Given the description of an element on the screen output the (x, y) to click on. 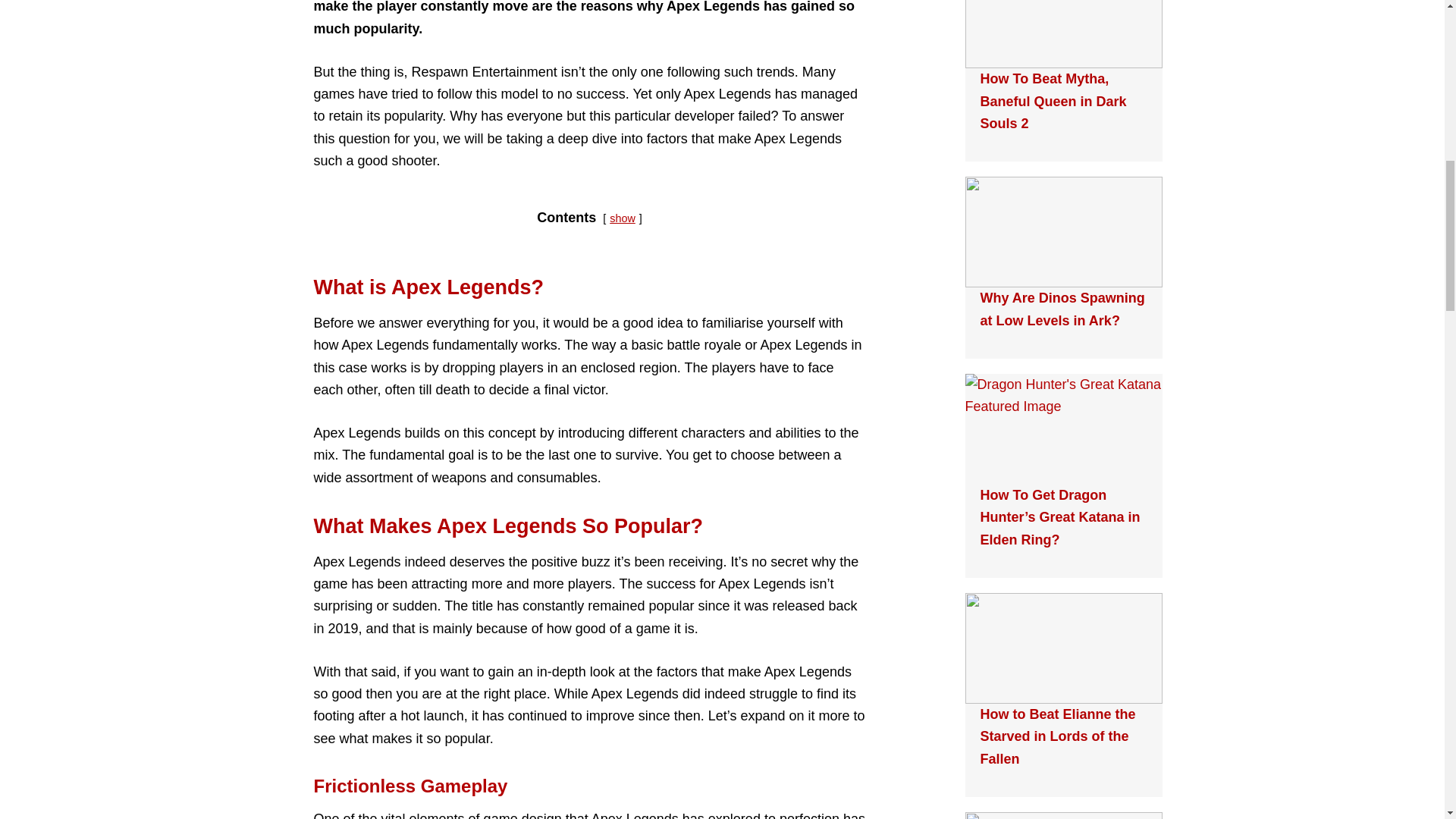
How To Beat Mytha, Baneful Queen in Dark Souls 2 (1052, 101)
Why Are Dinos Spawning at Low Levels in Ark? (1061, 308)
show (622, 218)
How to Beat Elianne the Starved in Lords of the Fallen (1057, 736)
